Given the description of an element on the screen output the (x, y) to click on. 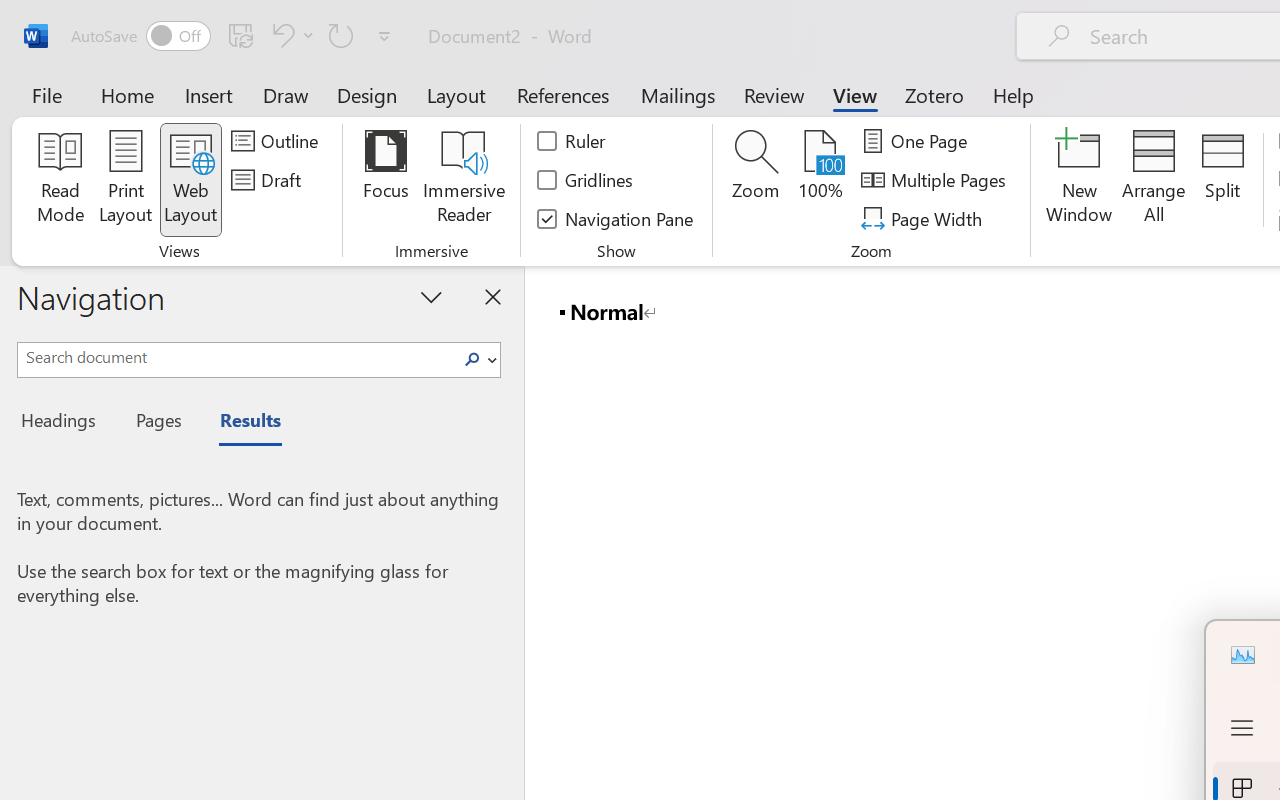
Immersive Reader (464, 179)
Search (471, 359)
Results (240, 423)
Headings (64, 423)
Pages (156, 423)
Multiple Pages (936, 179)
Undo <ApplyStyleToDoc>b__0 (290, 35)
Navigation Pane (616, 218)
Zoom... (755, 179)
